Given the description of an element on the screen output the (x, y) to click on. 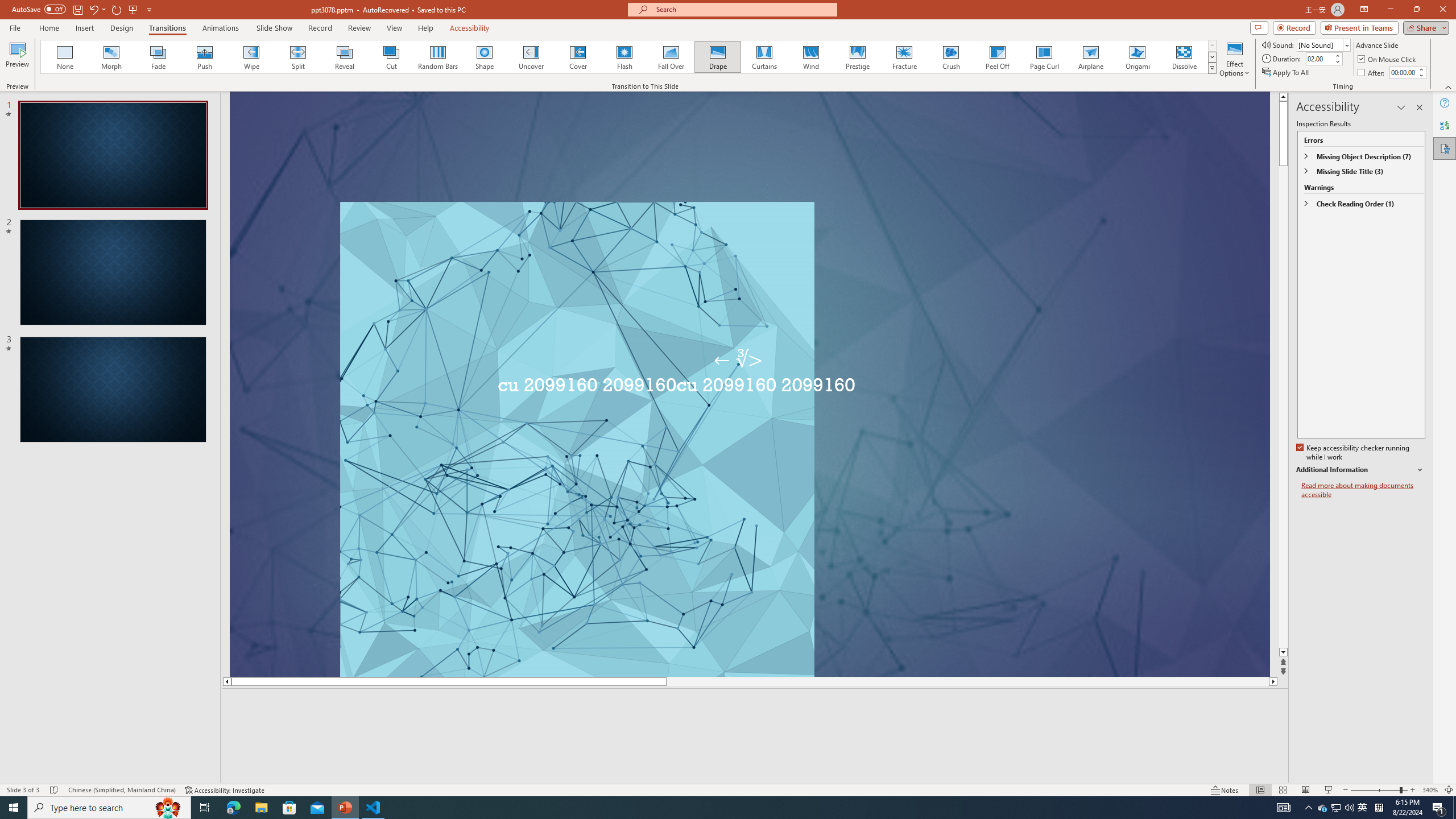
AutomationID: AnimationTransitionGallery (628, 56)
Airplane (1090, 56)
